Given the description of an element on the screen output the (x, y) to click on. 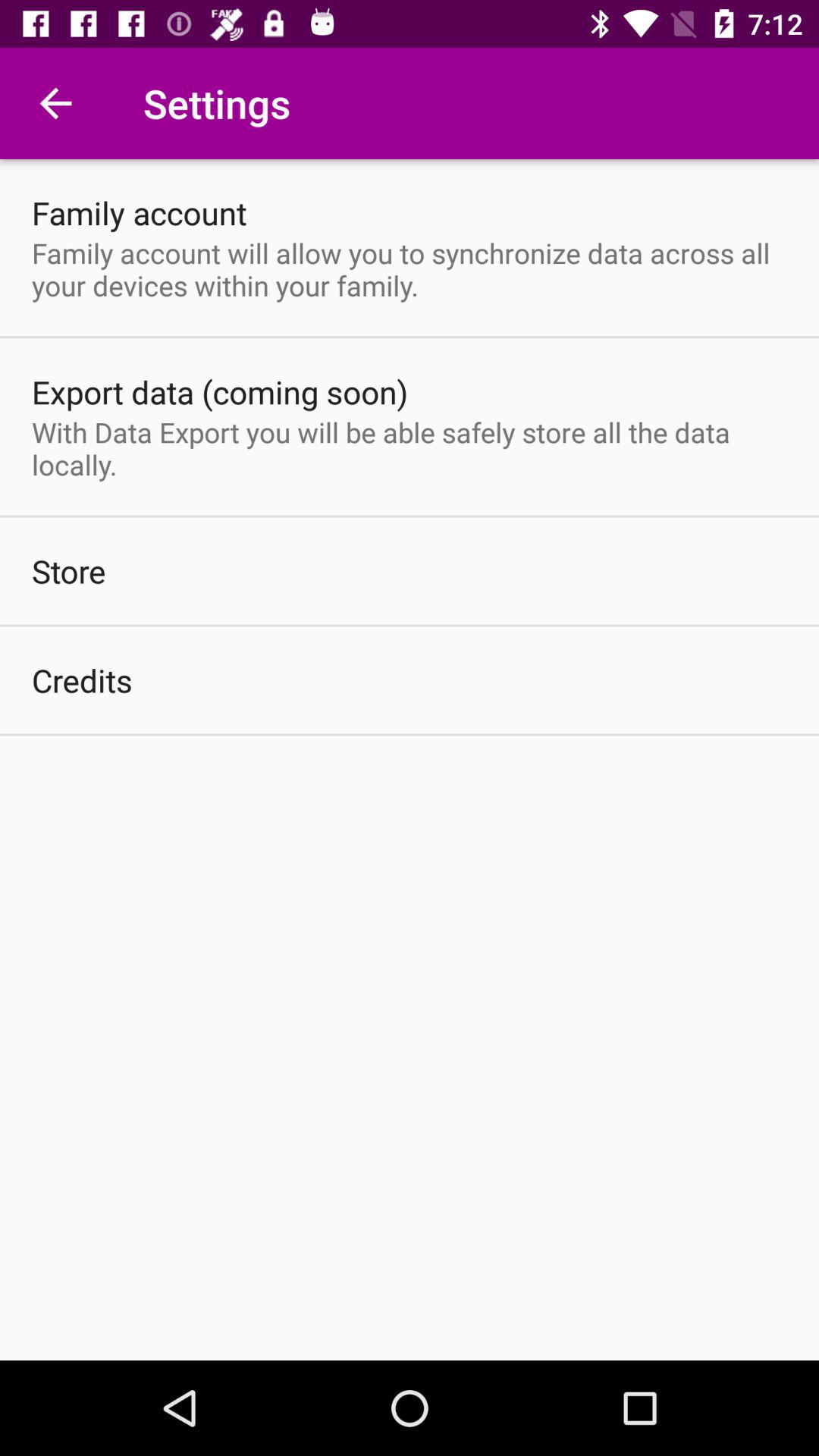
select the icon below the store icon (81, 679)
